Given the description of an element on the screen output the (x, y) to click on. 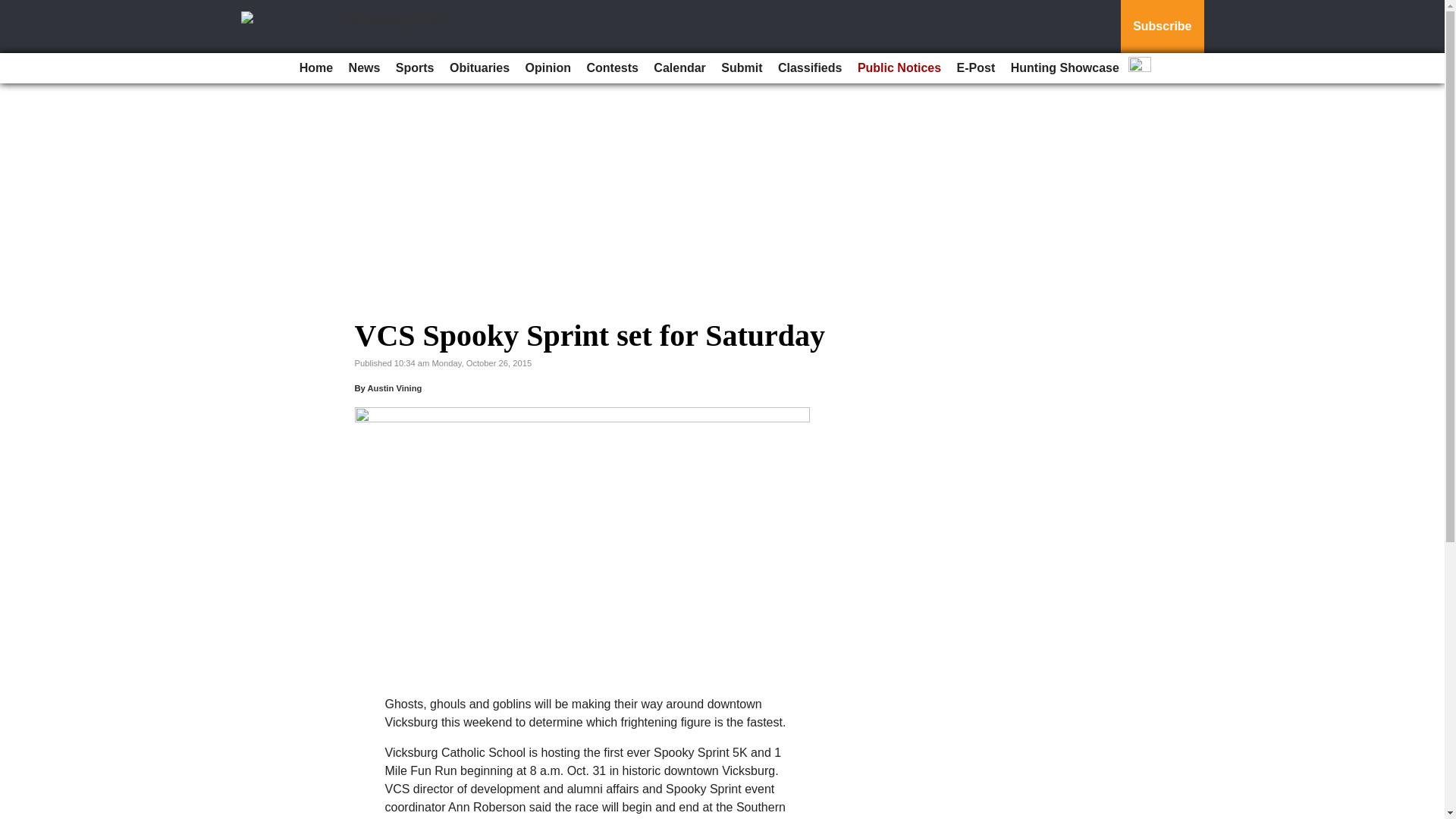
Classifieds (809, 68)
Go (13, 9)
Public Notices (899, 68)
E-Post (975, 68)
Subscribe (1162, 26)
Hunting Showcase (1064, 68)
Opinion (547, 68)
Calendar (679, 68)
Obituaries (479, 68)
News (364, 68)
Submit (741, 68)
Home (316, 68)
Contests (611, 68)
Austin Vining (394, 388)
Sports (415, 68)
